Given the description of an element on the screen output the (x, y) to click on. 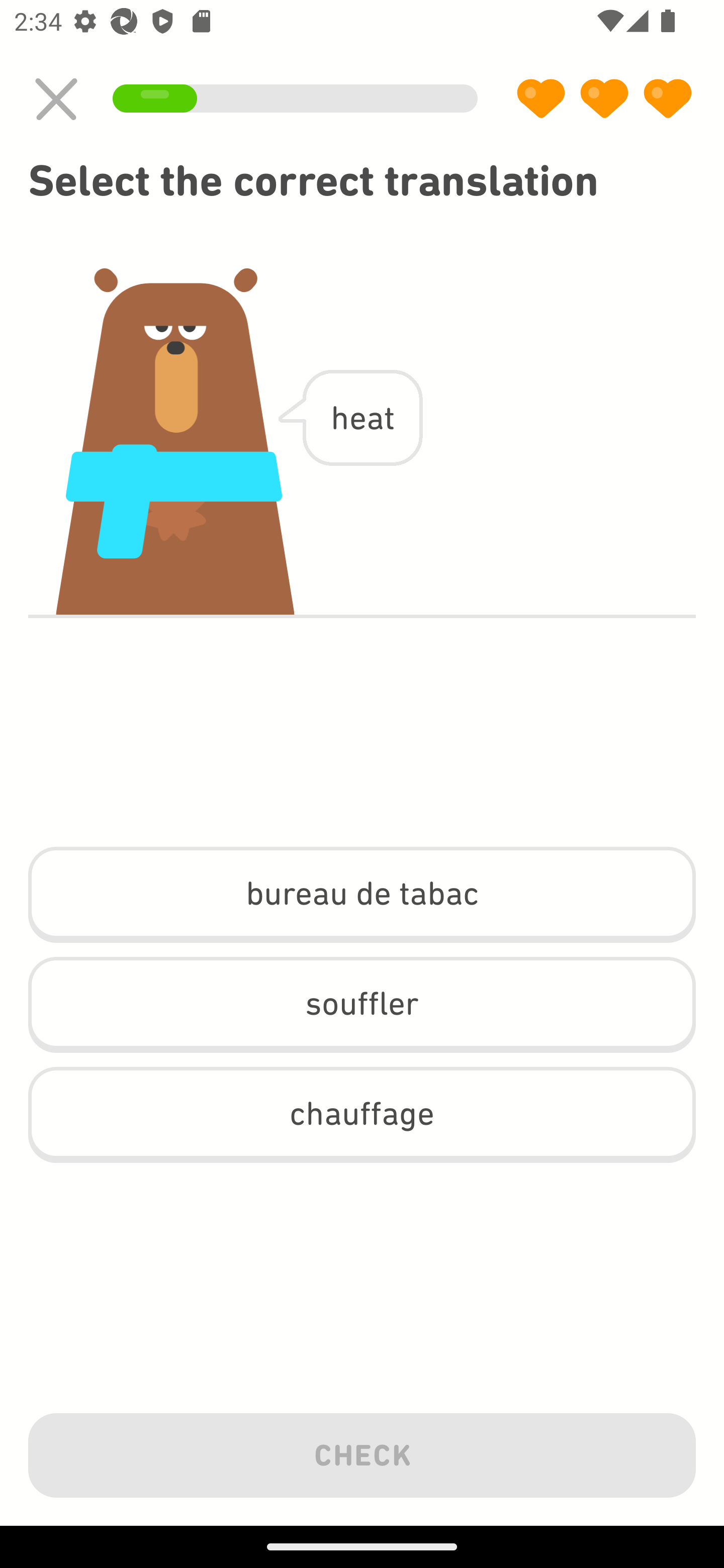
Select the correct translation (361, 180)
bureau de tabac (361, 894)
souffler (361, 1004)
chauffage (361, 1114)
CHECK (361, 1451)
